Given the description of an element on the screen output the (x, y) to click on. 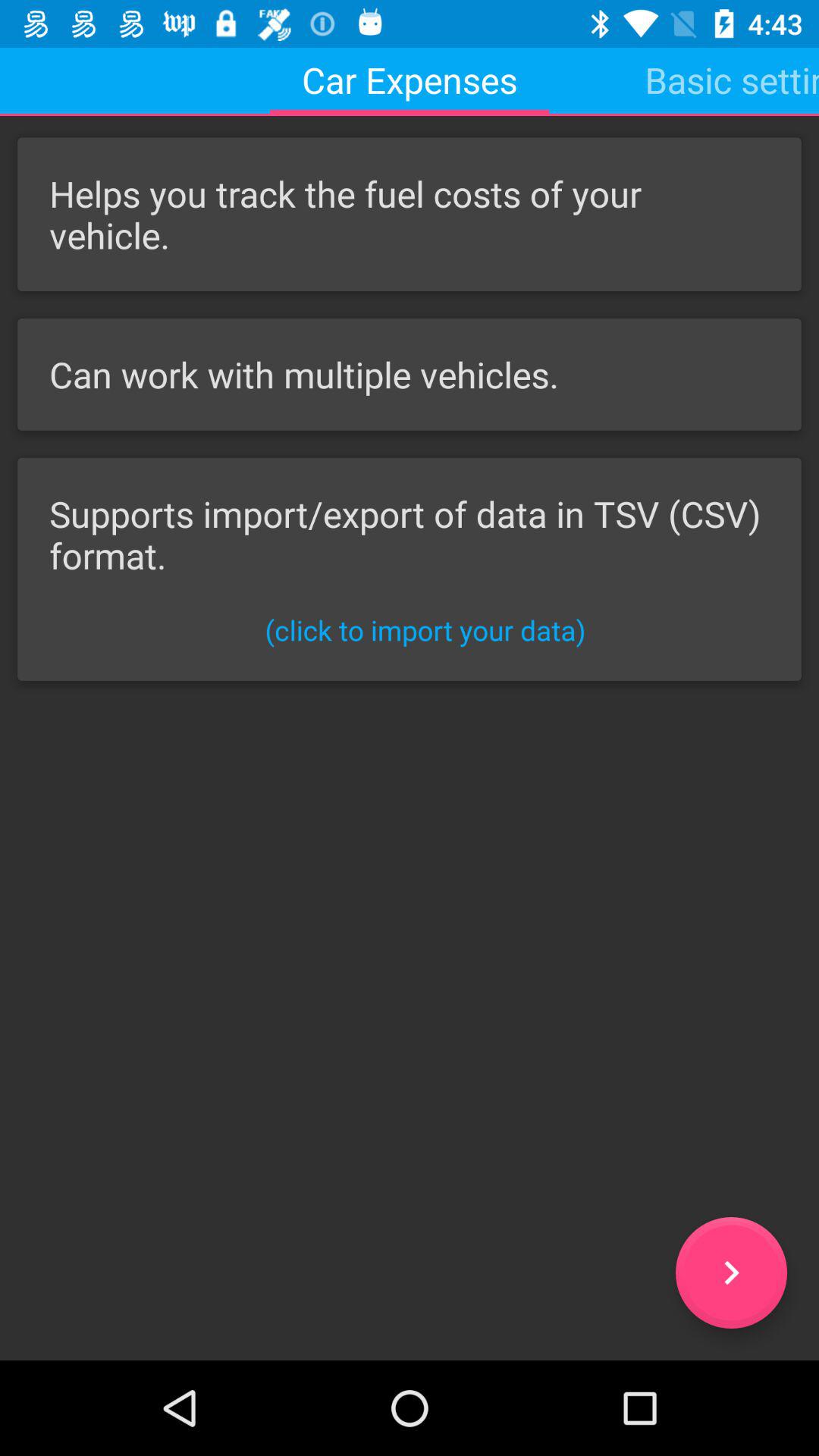
open the item at the bottom right corner (731, 1272)
